Given the description of an element on the screen output the (x, y) to click on. 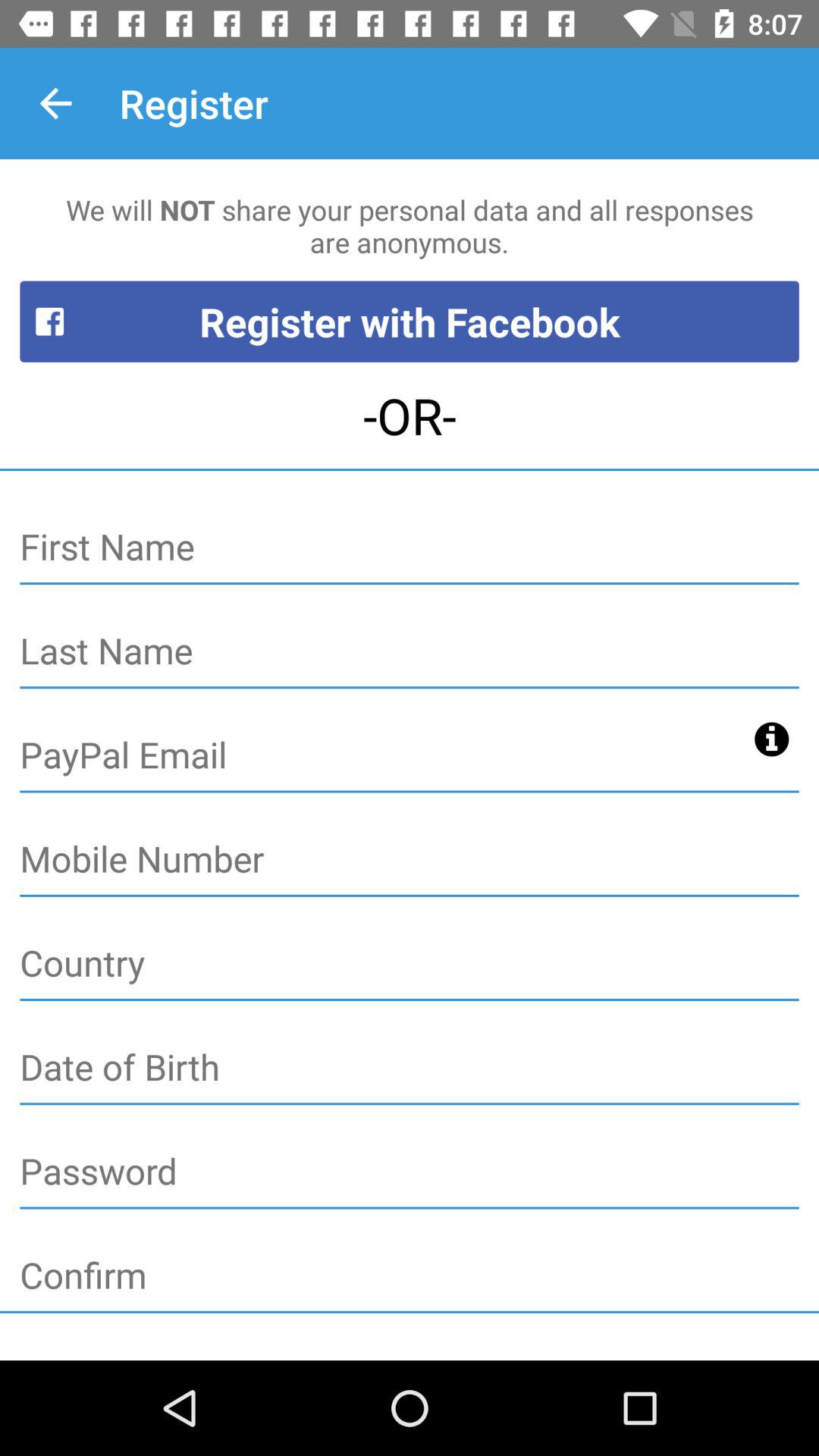
enter birthday (409, 1068)
